Given the description of an element on the screen output the (x, y) to click on. 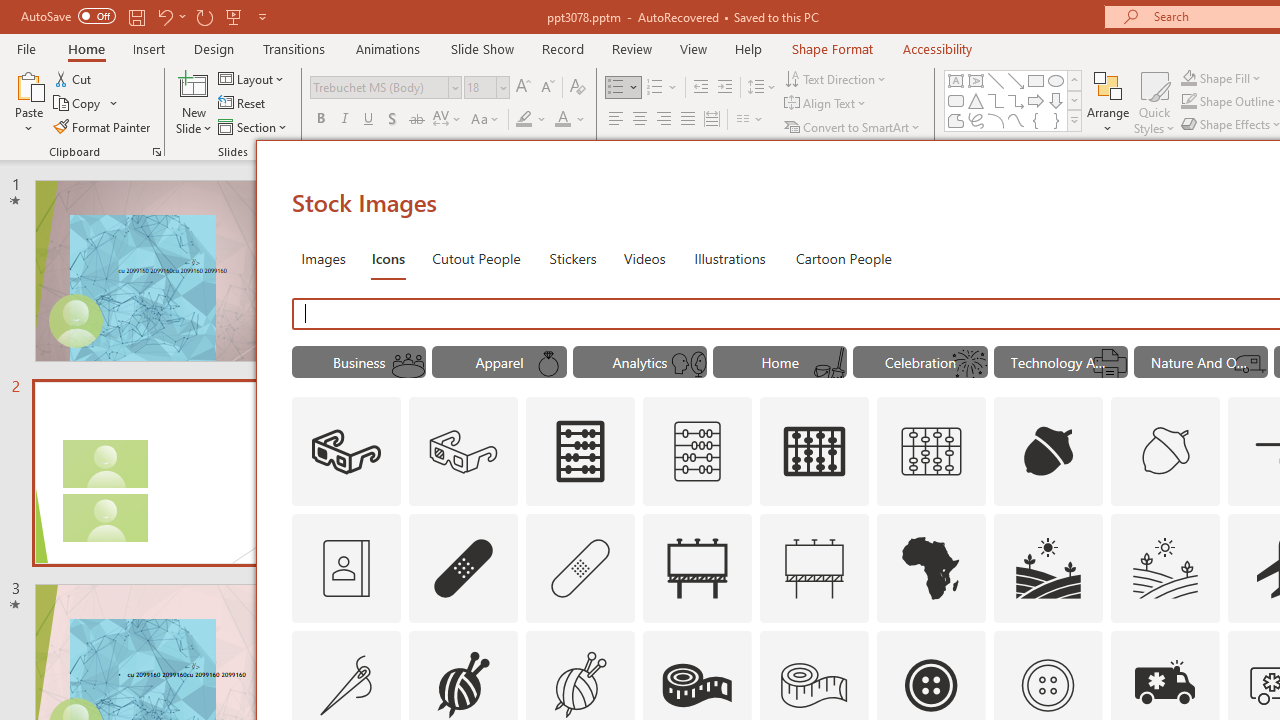
Left Brace (1035, 120)
Columns (750, 119)
AutomationID: Icons_Africa (931, 568)
AutomationID: Icons_Meeting_M (408, 364)
Bold (320, 119)
Strikethrough (416, 119)
Connector: Elbow Arrow (1016, 100)
"Business" Icons. (358, 362)
Cartoon People (843, 258)
Quick Styles (1154, 102)
Right Brace (1055, 120)
Justify (687, 119)
